Given the description of an element on the screen output the (x, y) to click on. 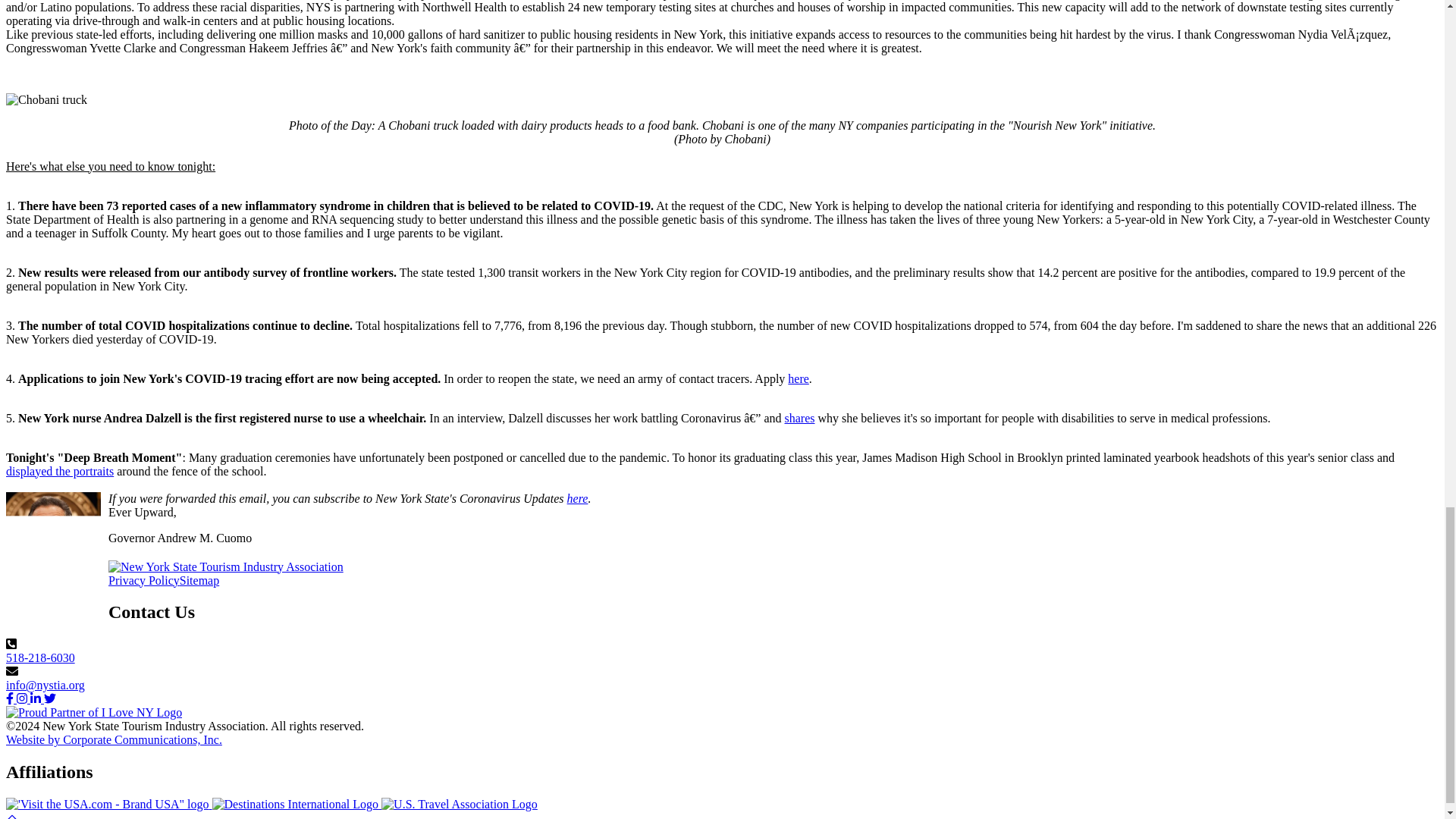
here (577, 498)
518-218-6030 (40, 657)
shares (798, 418)
Privacy Policy (143, 580)
Sitemap (199, 580)
displayed the portraits (59, 471)
here (798, 378)
